Given the description of an element on the screen output the (x, y) to click on. 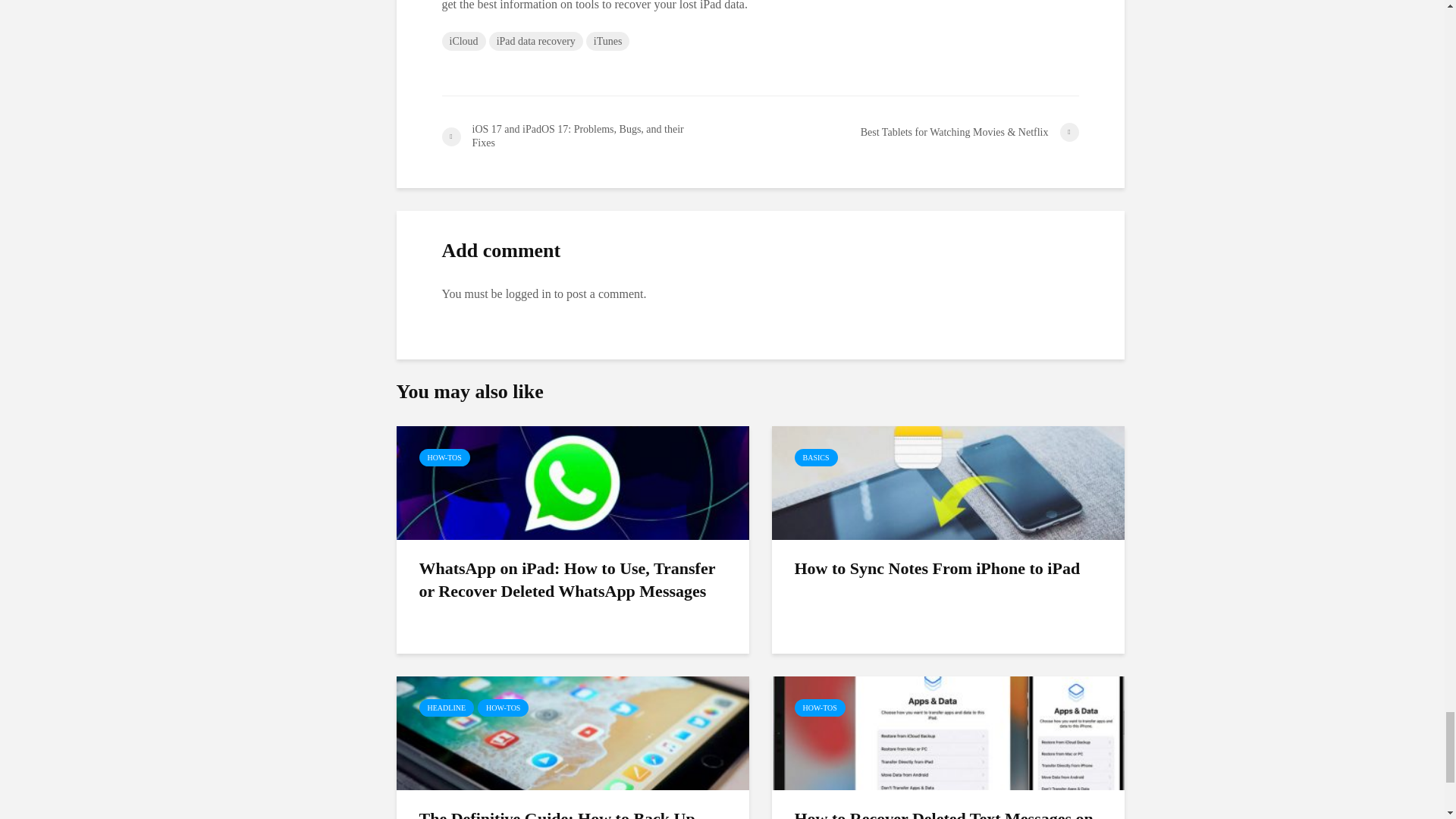
How to Sync Notes From iPhone to iPad (947, 481)
The Definitive Guide: How to Back Up Your iPad Device (572, 731)
iCloud (462, 40)
iPad data recovery (536, 40)
